Given the description of an element on the screen output the (x, y) to click on. 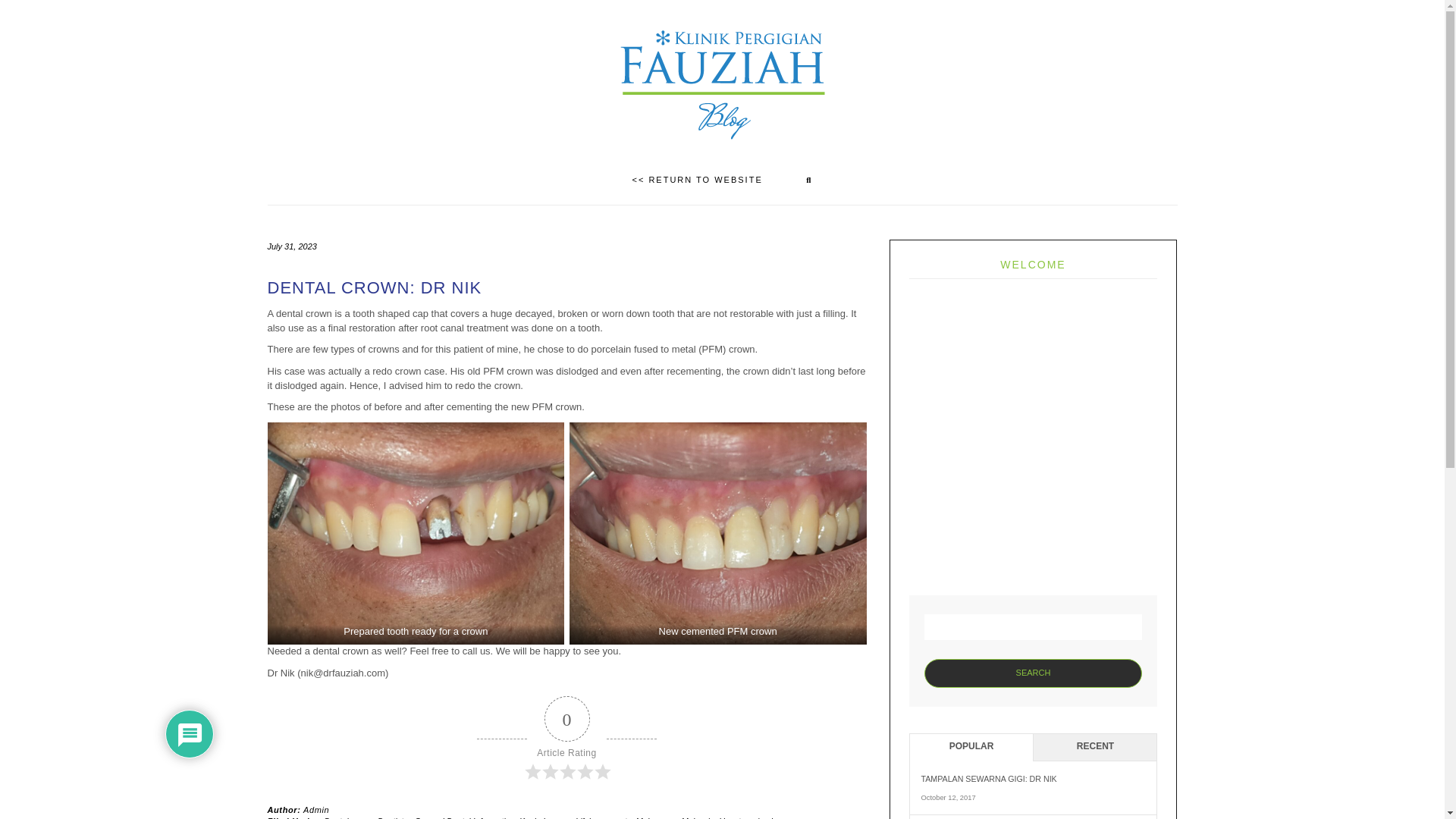
Dentistry (393, 817)
Dental crown (348, 817)
Uncategorized (746, 817)
Life's moments (603, 817)
Makeovers (656, 817)
Kuala Lumpur (544, 817)
Posts by Admin (315, 809)
Admin (315, 809)
General Dental Information (464, 817)
Malaysia (697, 817)
